Given the description of an element on the screen output the (x, y) to click on. 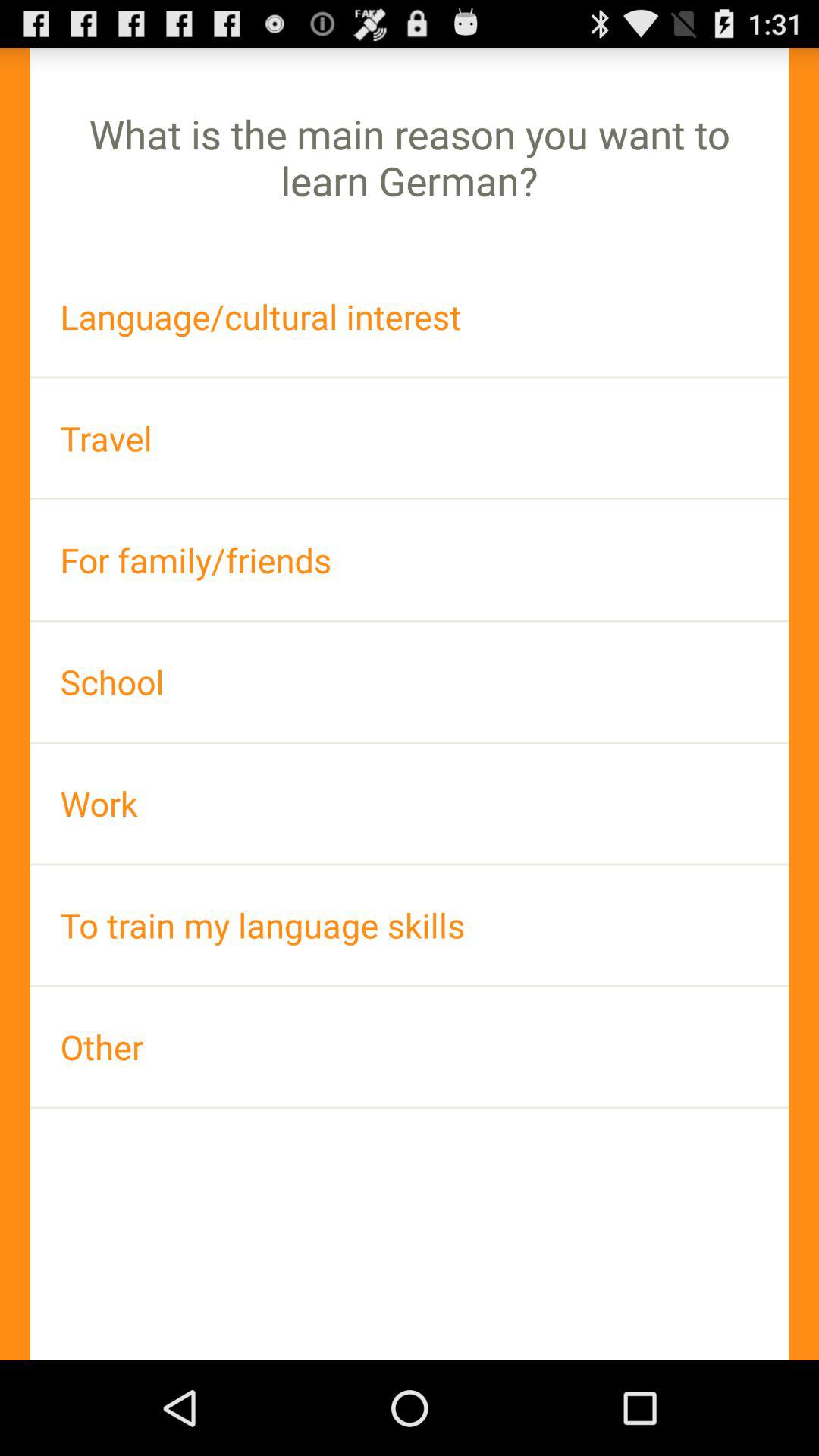
press other app (409, 1046)
